Given the description of an element on the screen output the (x, y) to click on. 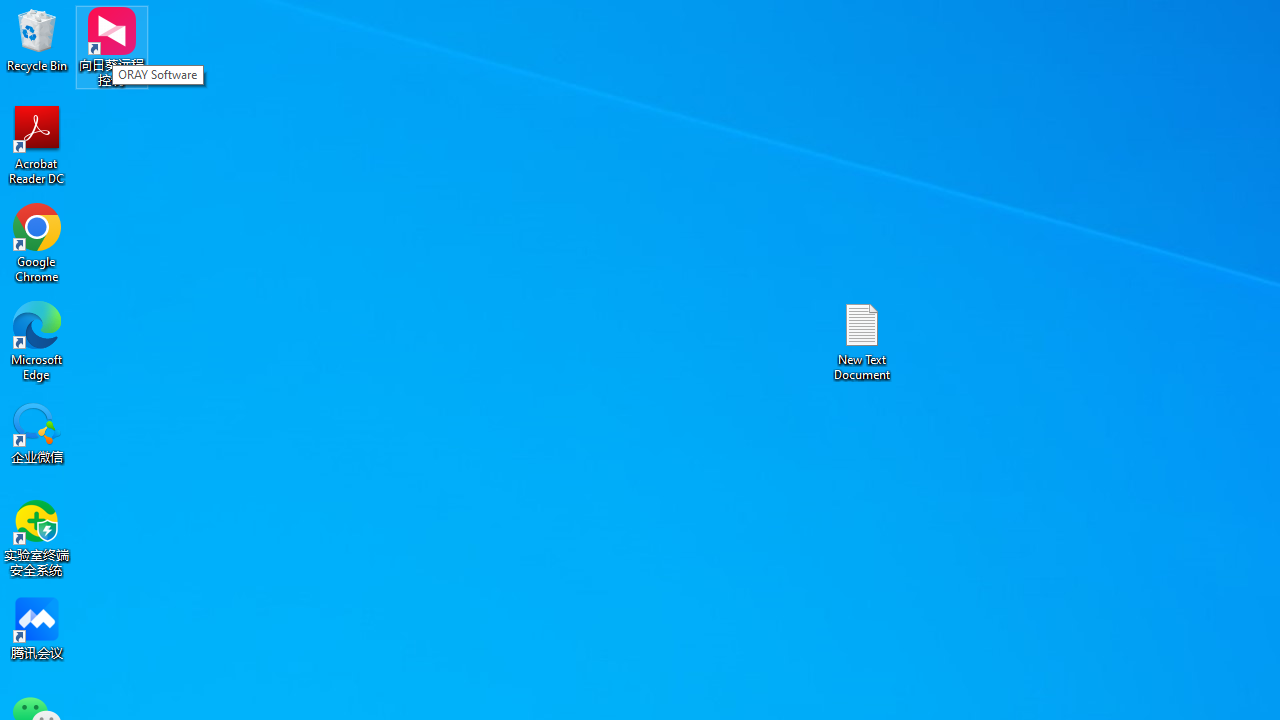
New Text Document (861, 340)
Microsoft Edge (37, 340)
Google Chrome (37, 242)
Recycle Bin (37, 39)
Acrobat Reader DC (37, 144)
